Given the description of an element on the screen output the (x, y) to click on. 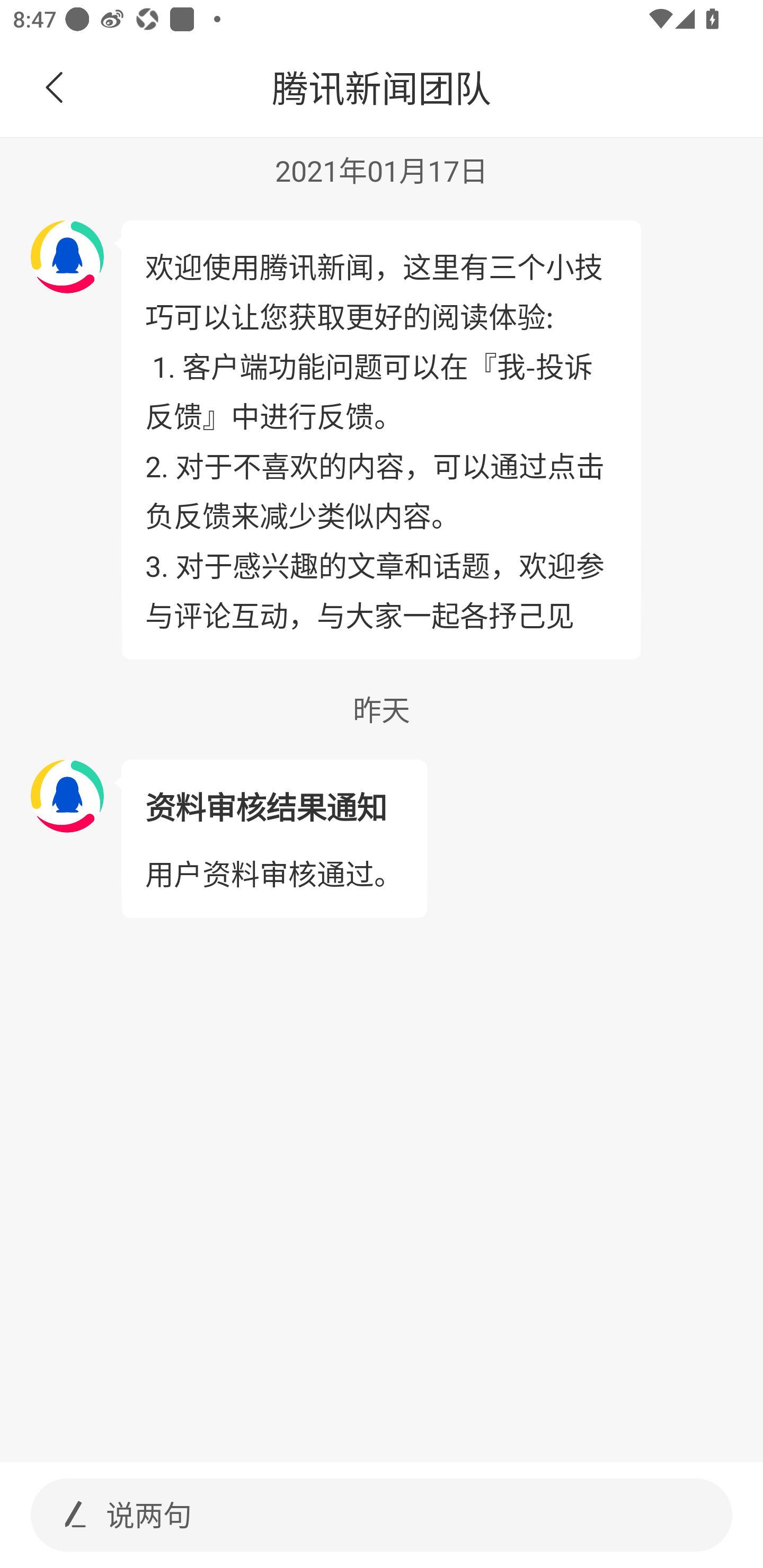
 返回 (54, 87)
资料审核结果通知
用户资料审核通过。 (273, 838)
